Given the description of an element on the screen output the (x, y) to click on. 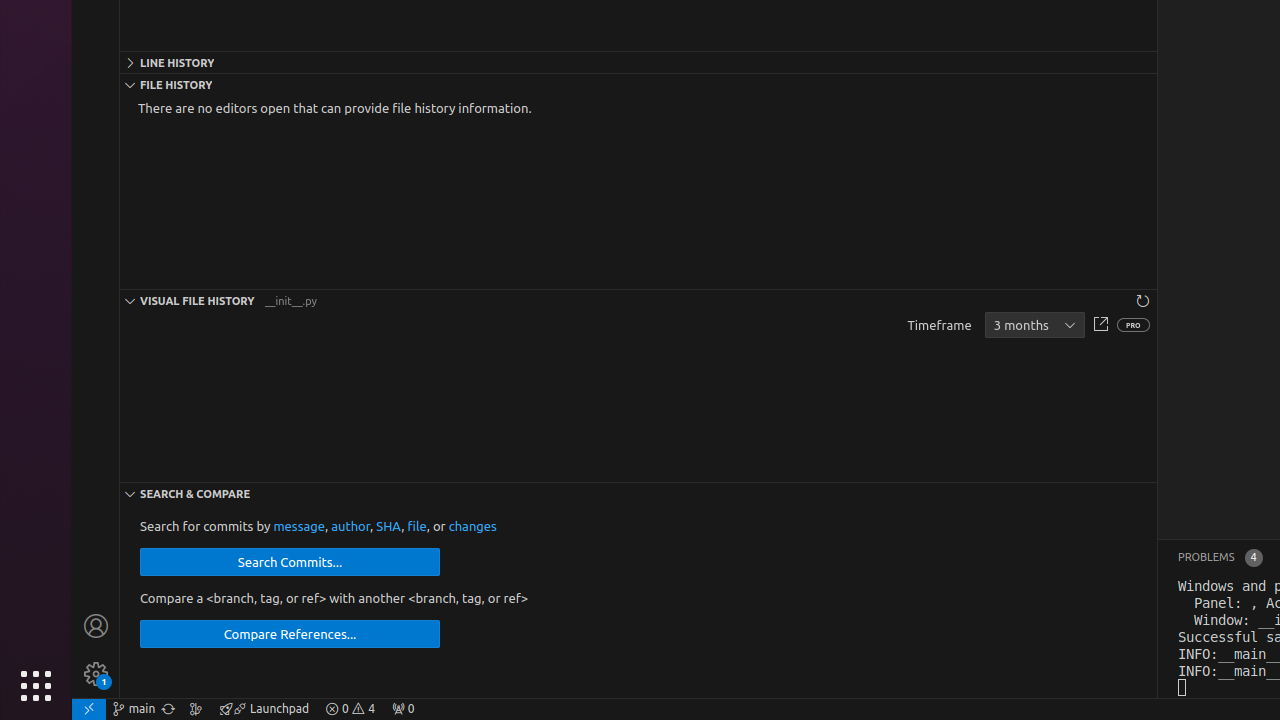
Manage - New Code update available. Element type: push-button (96, 674)
author Element type: push-button (351, 526)
File History Section Element type: push-button (638, 84)
No Ports Forwarded Element type: push-button (403, 709)
Timeframe Element type: combo-box (1034, 325)
